Given the description of an element on the screen output the (x, y) to click on. 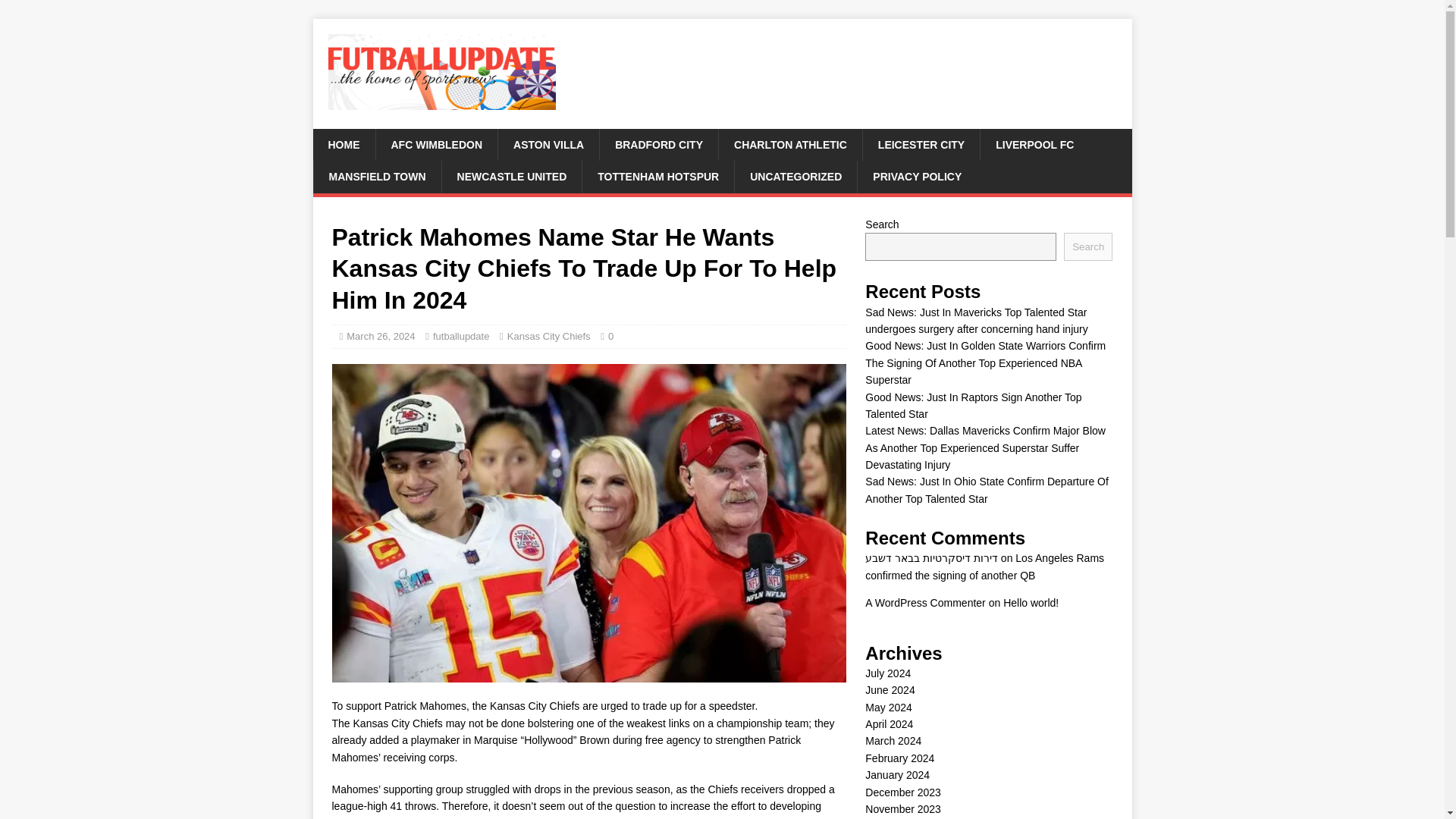
CHARLTON ATHLETIC (789, 144)
futballupdate (460, 336)
PRIVACY POLICY (916, 176)
HOME (343, 144)
LIVERPOOL FC (1034, 144)
AFC WIMBLEDON (435, 144)
Kansas City Chiefs (548, 336)
MANSFIELD TOWN (377, 176)
Search (1088, 246)
LEICESTER CITY (920, 144)
ASTON VILLA (547, 144)
BRADFORD CITY (657, 144)
UNCATEGORIZED (795, 176)
NEWCASTLE UNITED (511, 176)
